Given the description of an element on the screen output the (x, y) to click on. 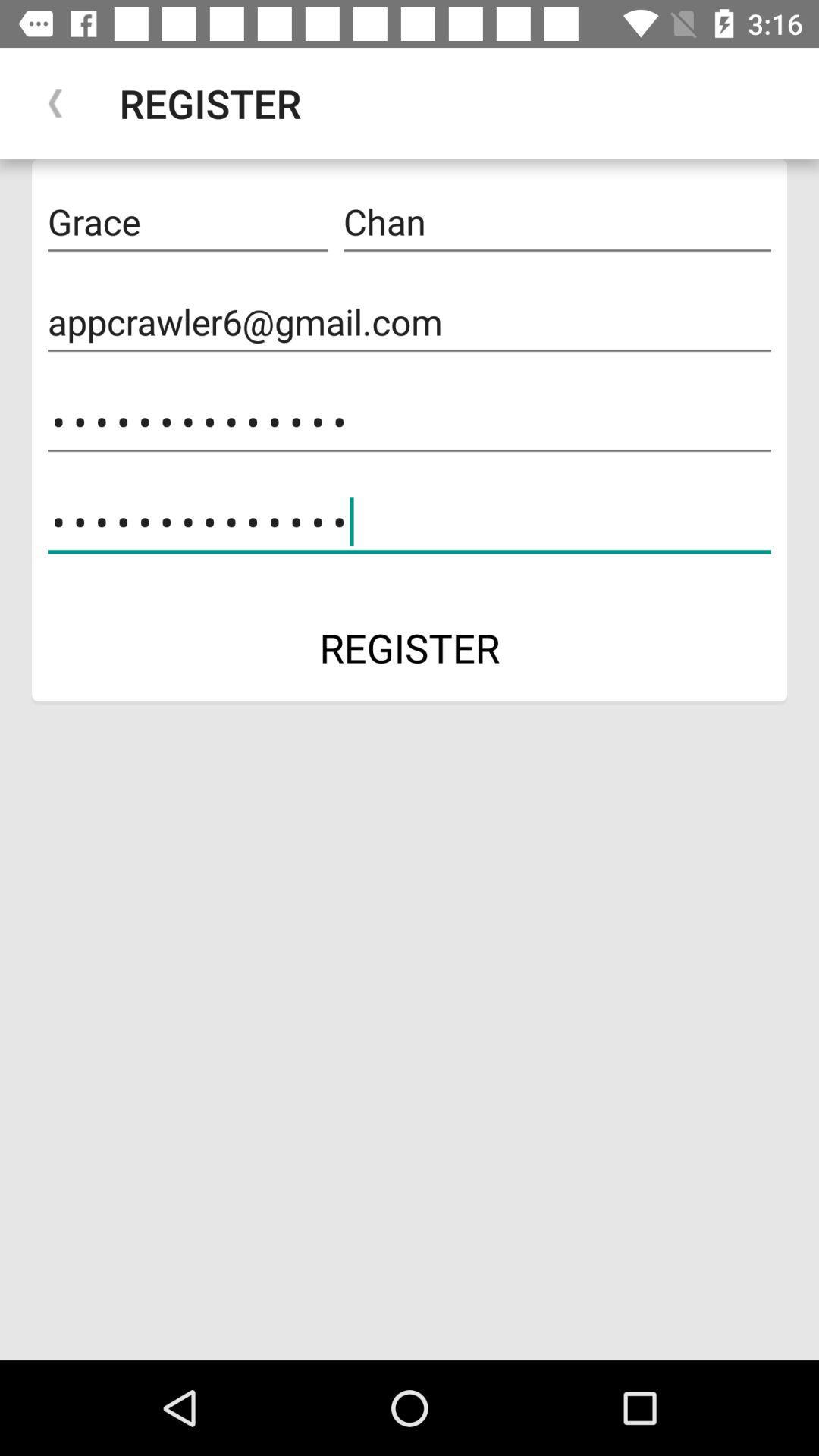
open app next to register (55, 103)
